Given the description of an element on the screen output the (x, y) to click on. 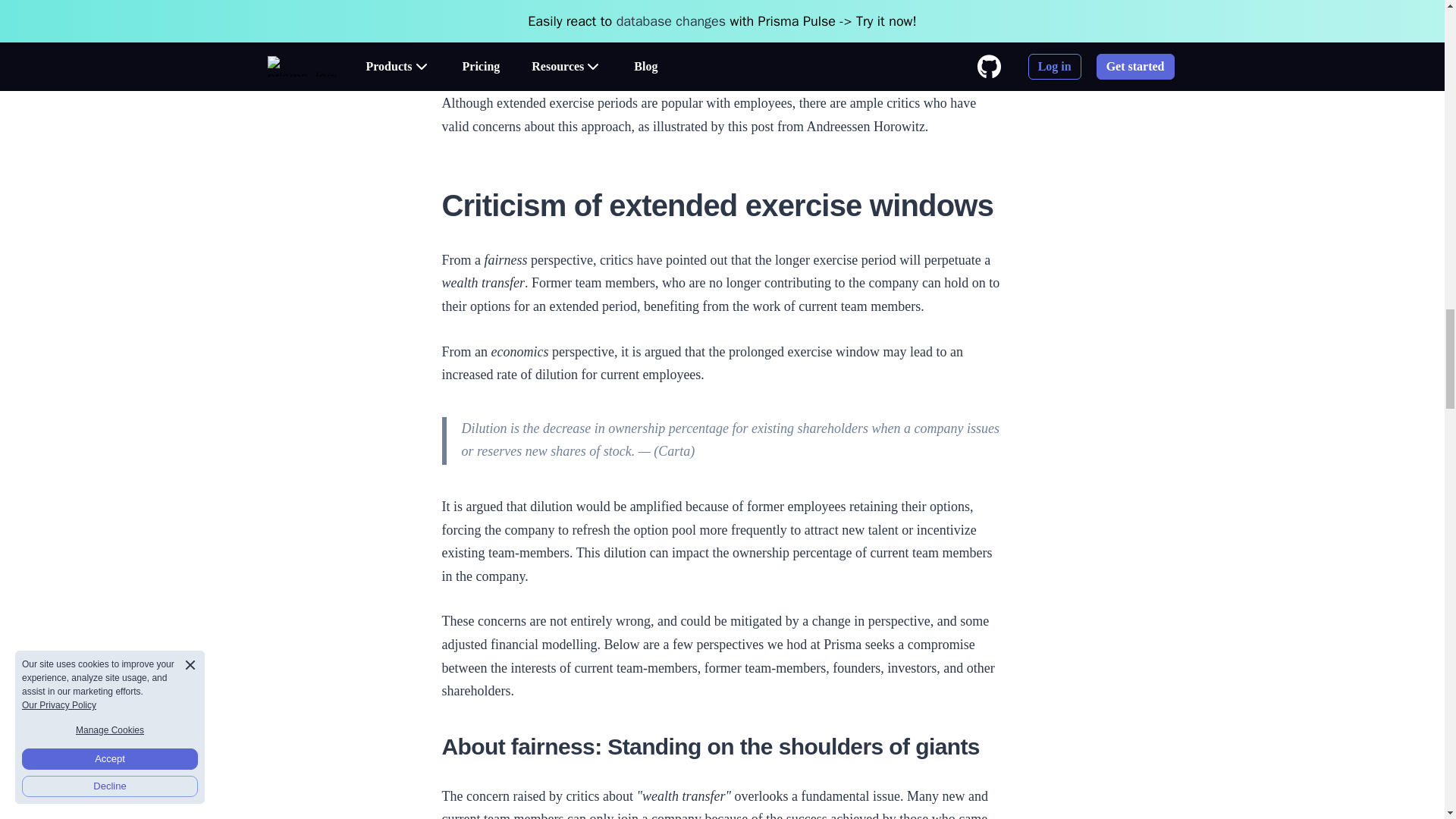
this post (751, 126)
Carta (674, 450)
